Given the description of an element on the screen output the (x, y) to click on. 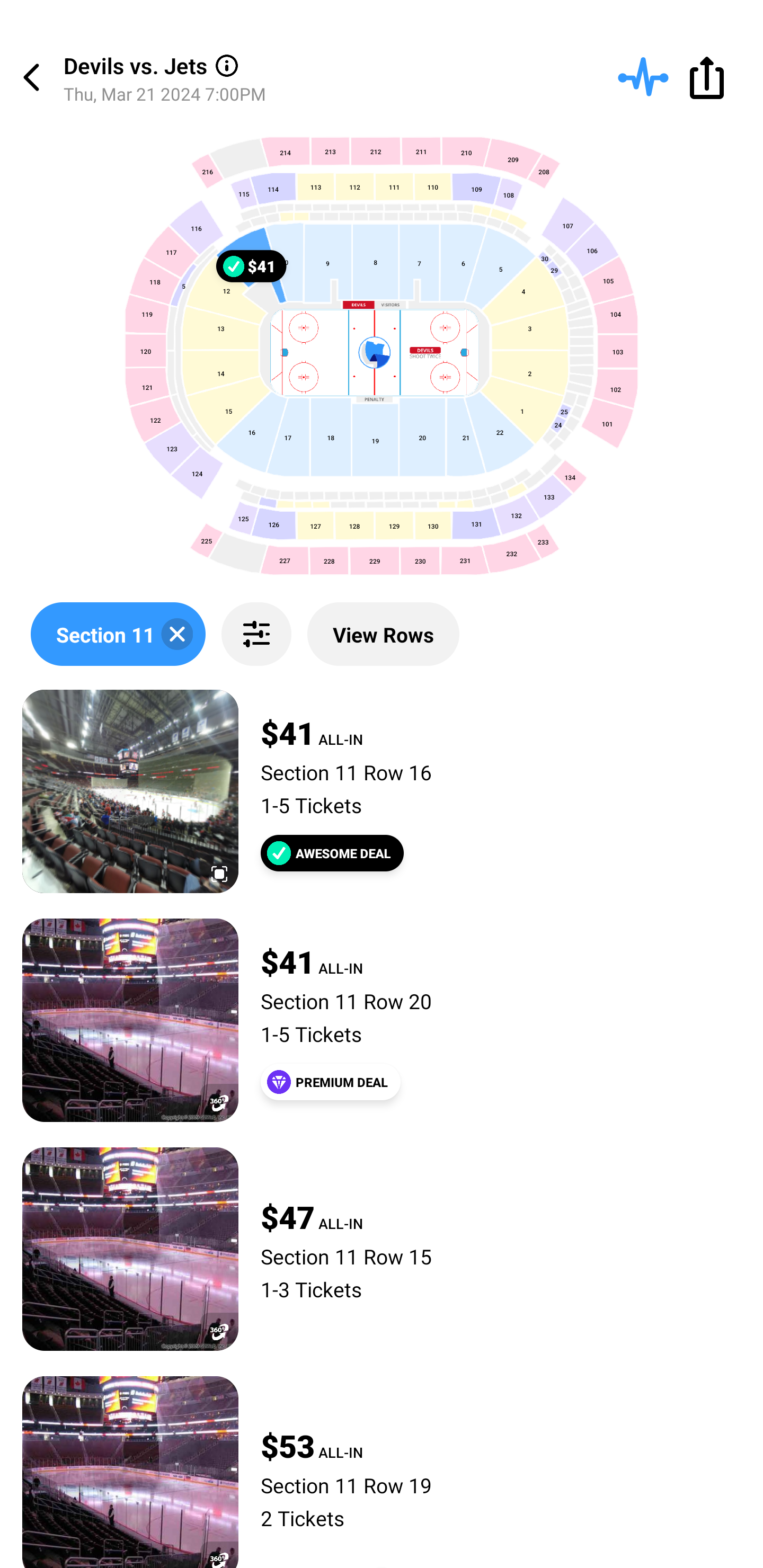
$41 (250, 265)
Section 11 (117, 634)
View Rows (383, 634)
AWESOME DEAL (331, 852)
PREMIUM DEAL (330, 1081)
